Given the description of an element on the screen output the (x, y) to click on. 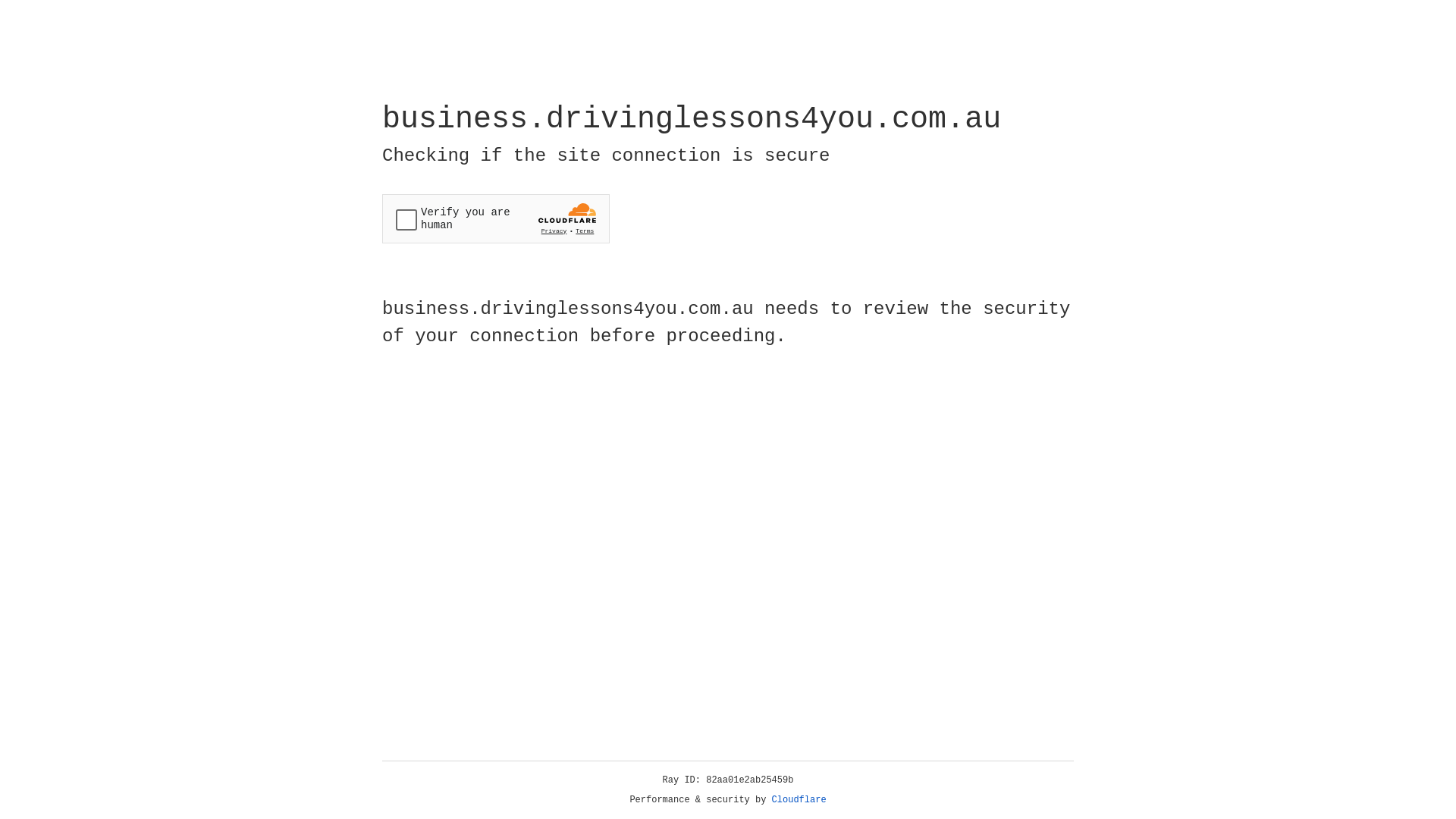
Widget containing a Cloudflare security challenge Element type: hover (495, 218)
Cloudflare Element type: text (798, 799)
